Given the description of an element on the screen output the (x, y) to click on. 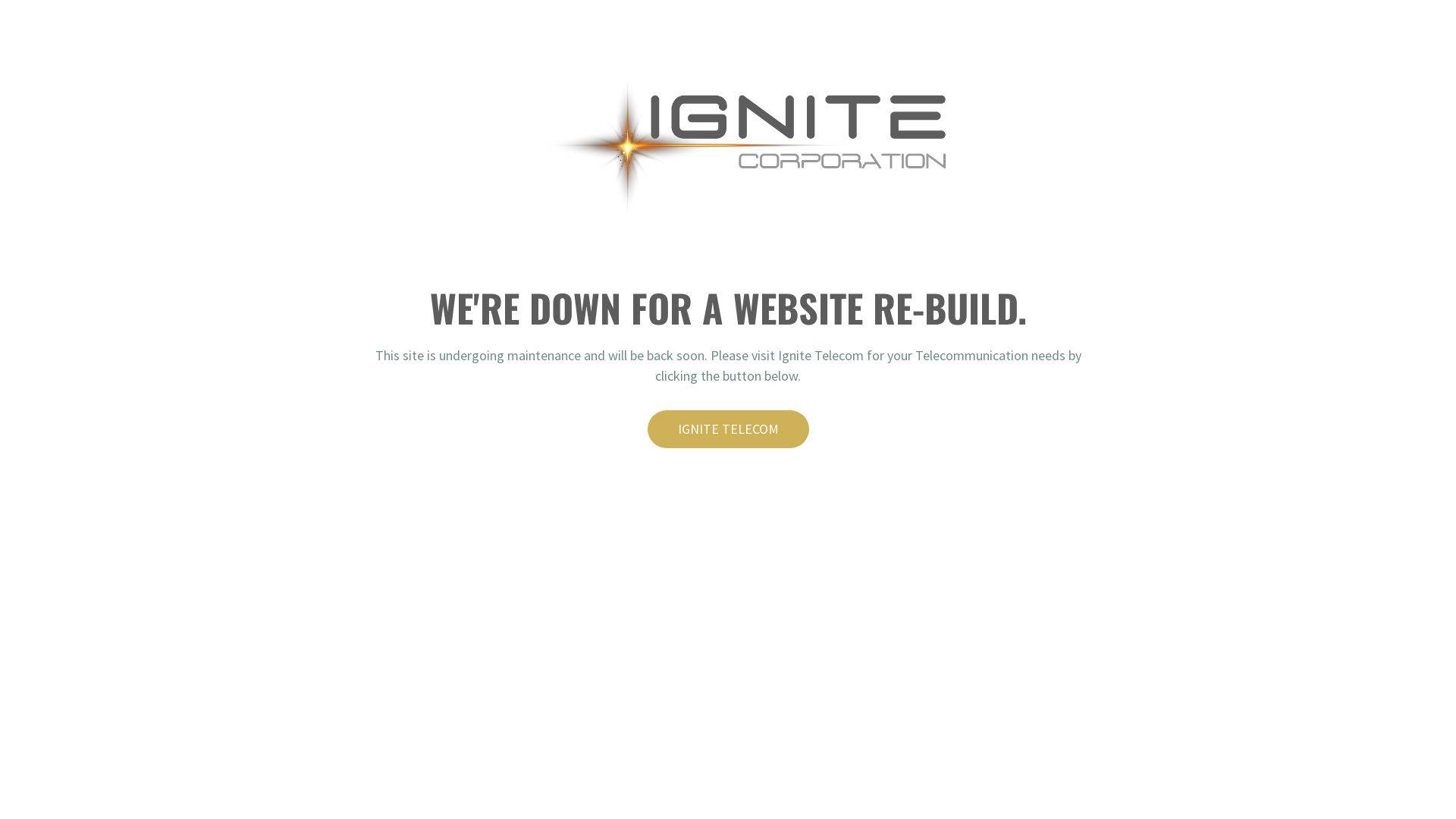
IGNITE TELECOM Element type: text (728, 429)
